Given the description of an element on the screen output the (x, y) to click on. 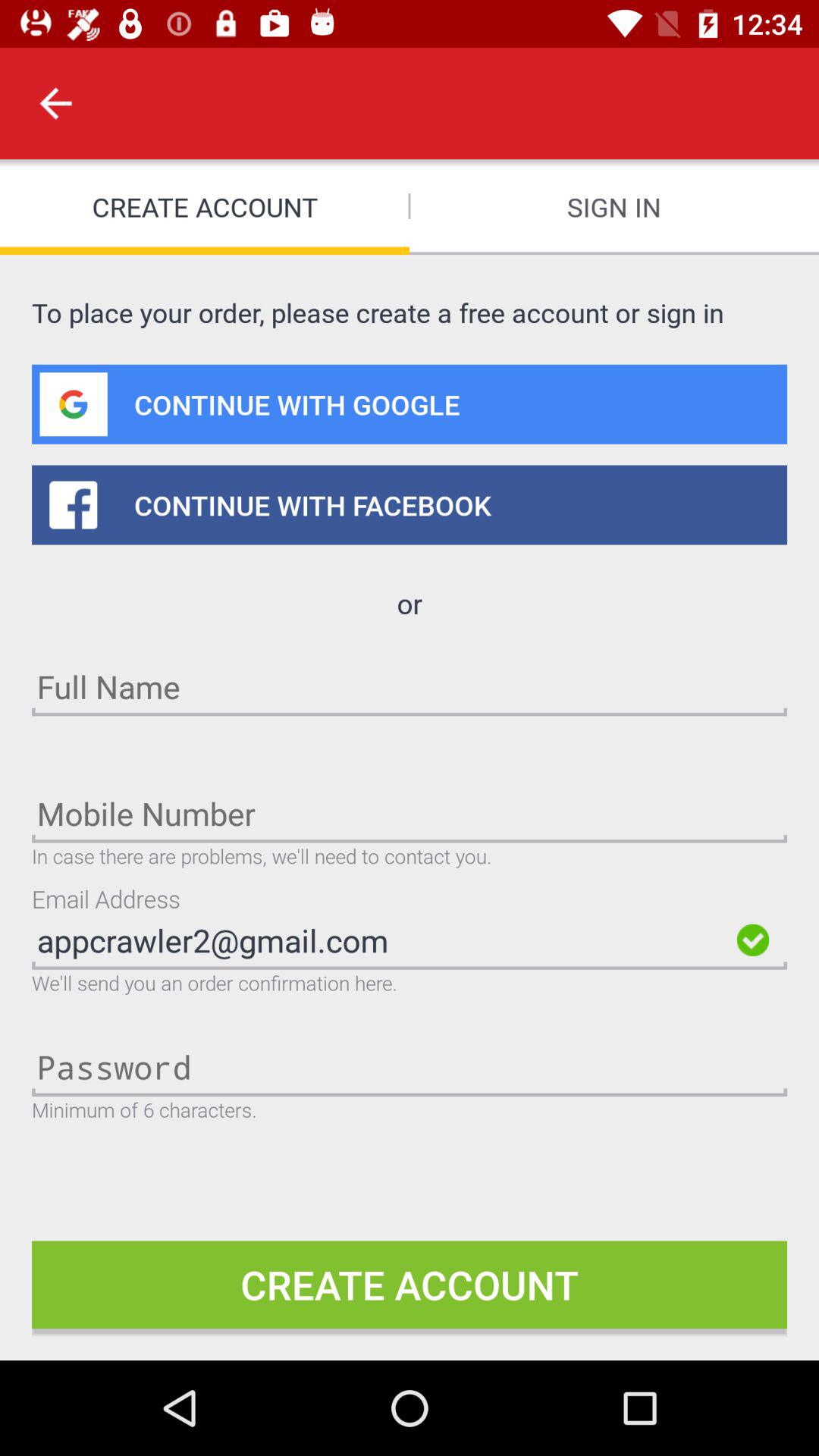
enter the mobile number box (409, 812)
